Given the description of an element on the screen output the (x, y) to click on. 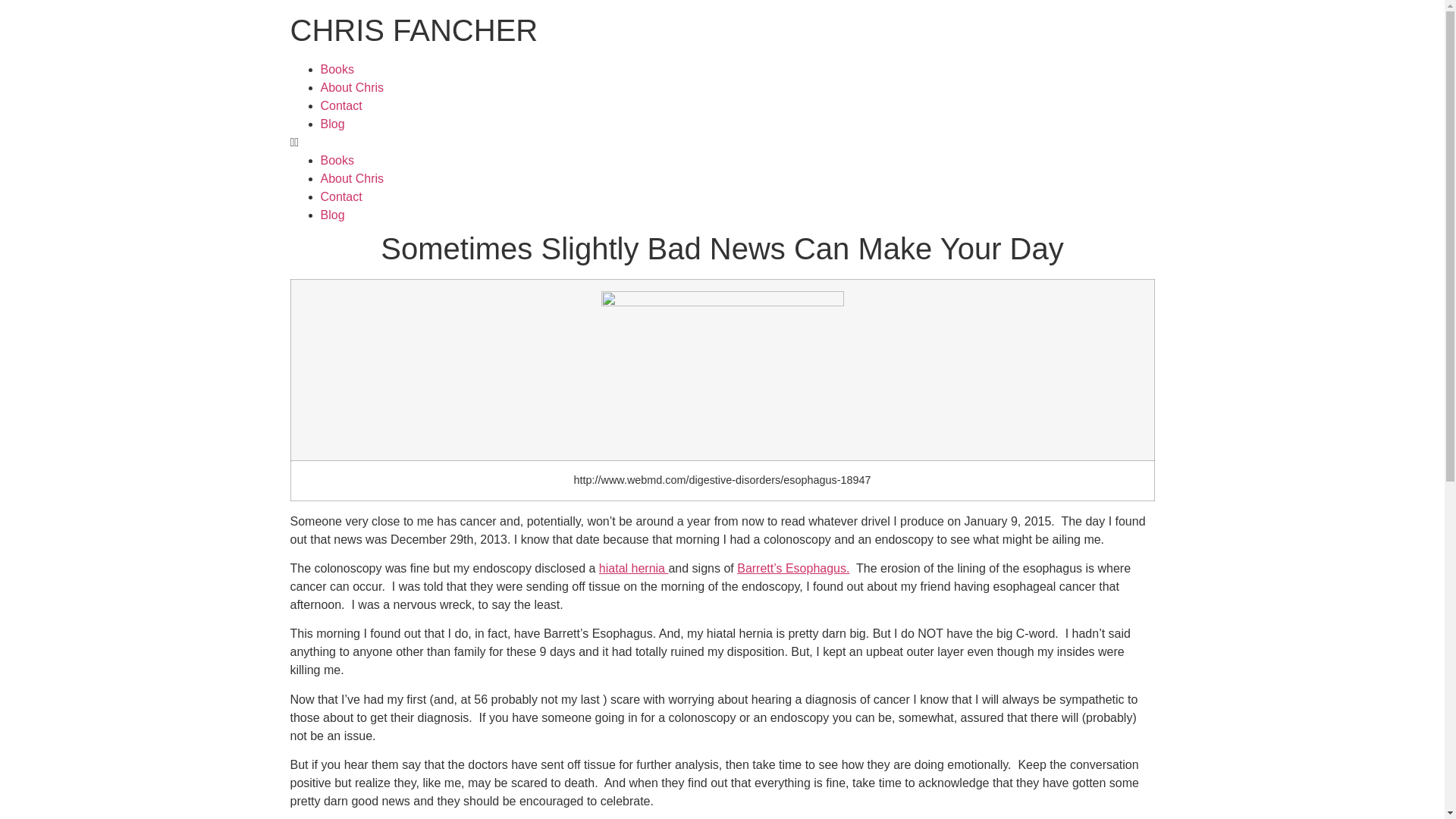
Contact (340, 196)
Blog (331, 123)
hiatal hernia (633, 567)
About Chris (352, 87)
Blog (331, 214)
About Chris (352, 178)
Books (336, 160)
CHRIS FANCHER (413, 29)
Books (336, 69)
Contact (340, 105)
